Given the description of an element on the screen output the (x, y) to click on. 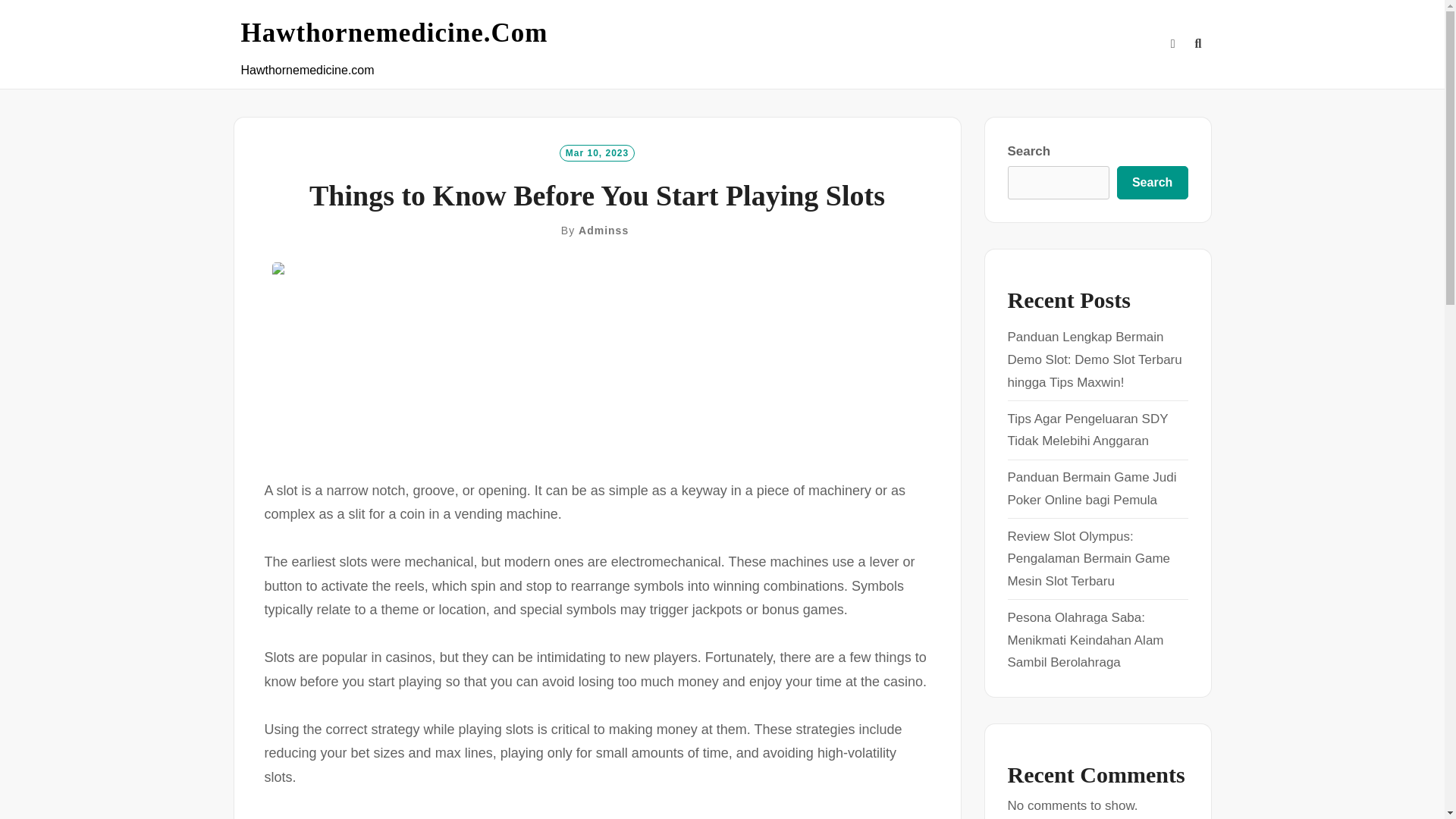
Adminss (603, 230)
Panduan Bermain Game Judi Poker Online bagi Pemula (1091, 488)
Hawthornemedicine.Com (394, 33)
Tips Agar Pengeluaran SDY Tidak Melebihi Anggaran (1087, 429)
Search (1152, 182)
Search (730, 427)
Mar 10, 2023 (596, 152)
